Given the description of an element on the screen output the (x, y) to click on. 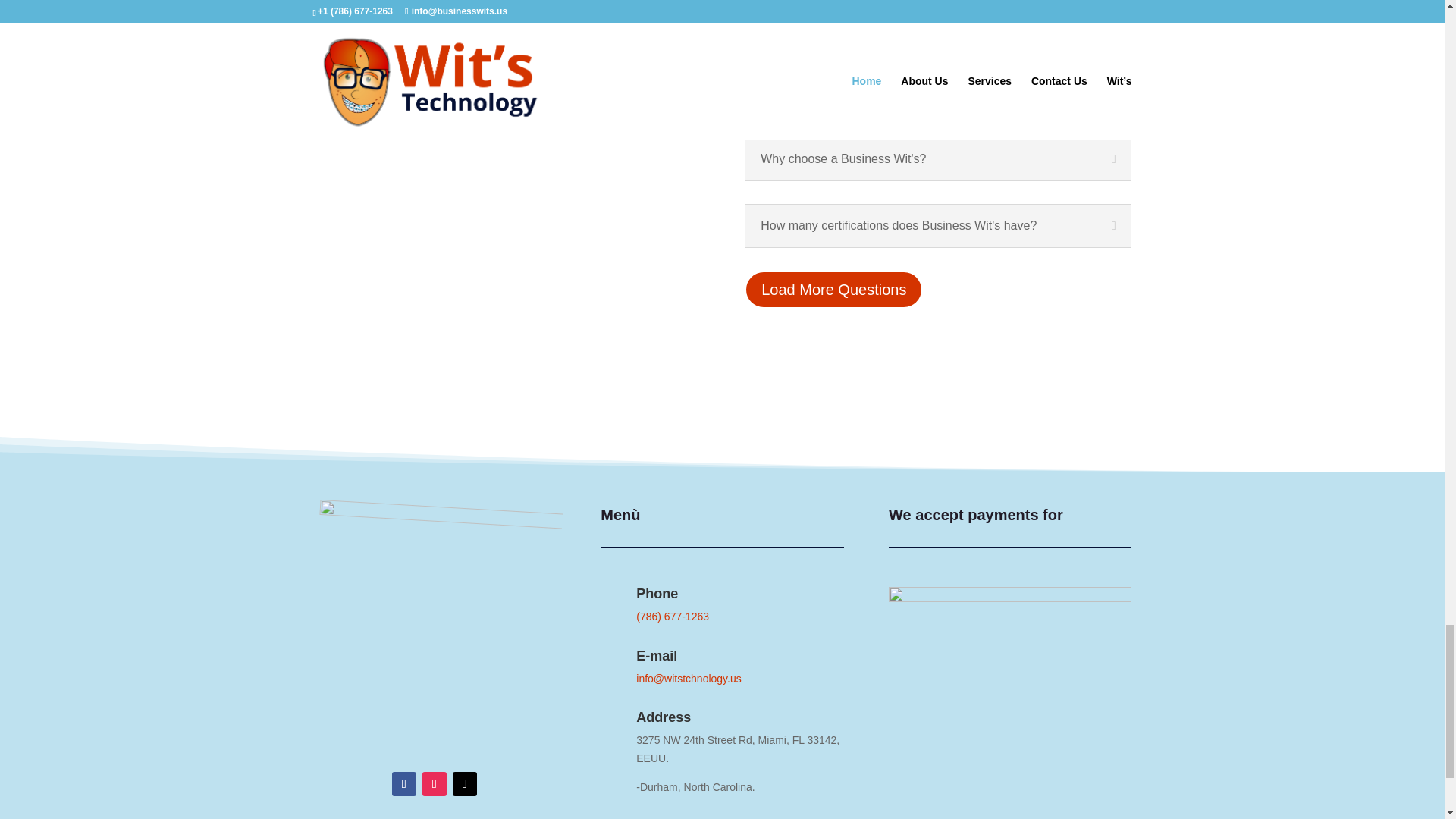
Follow on Facebook (403, 784)
Follow on Instagram (434, 784)
We accept payments for-1 (1009, 605)
Load More Questions (833, 288)
Bussinedsswitisoriginal (429, 623)
Follow on X (464, 784)
